Given the description of an element on the screen output the (x, y) to click on. 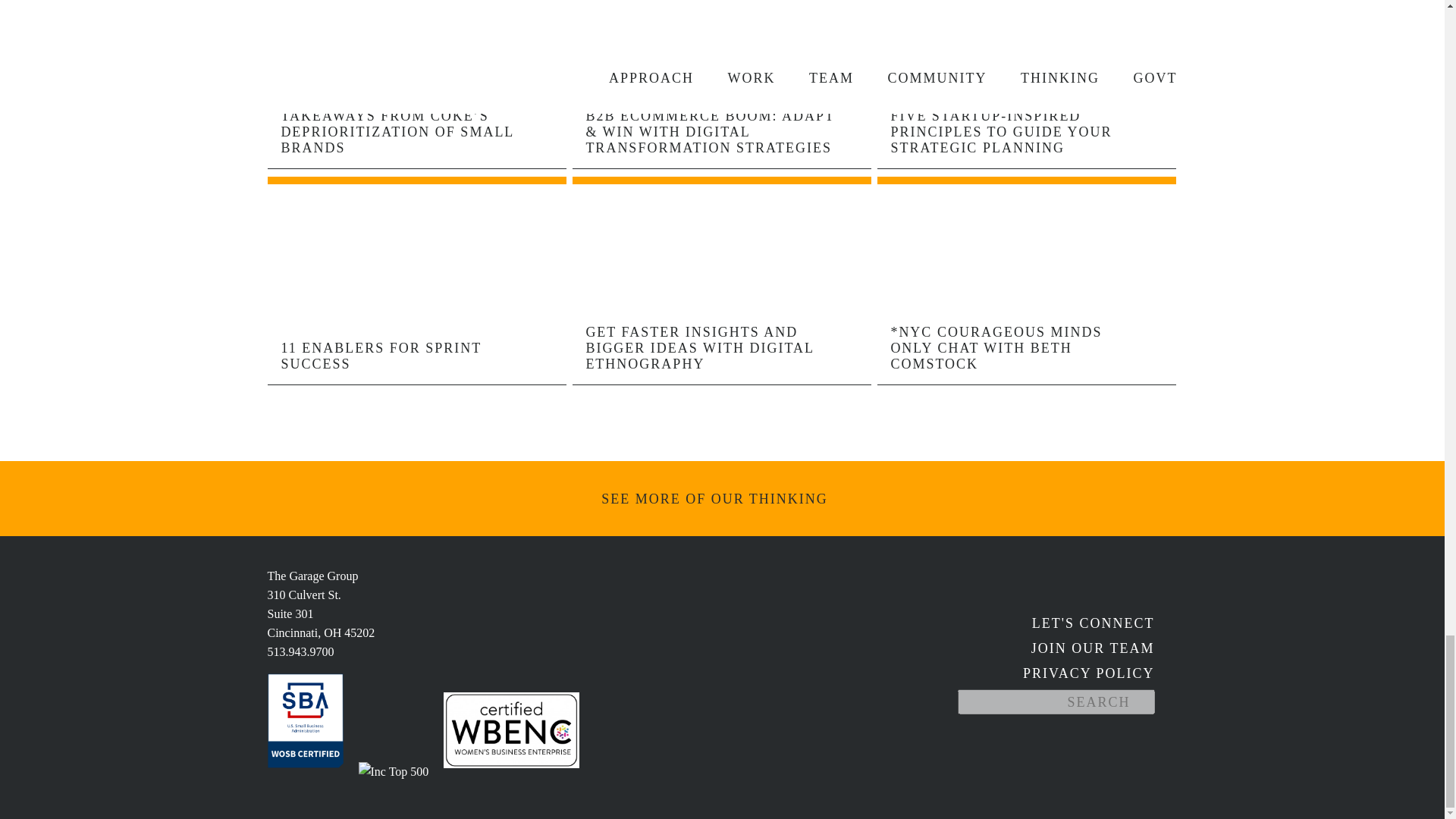
SEE MORE OF OUR THINKING (722, 499)
11 Enablers for Sprint Success (416, 364)
11 ENABLERS FOR SPRINT SUCCESS (416, 364)
